Given the description of an element on the screen output the (x, y) to click on. 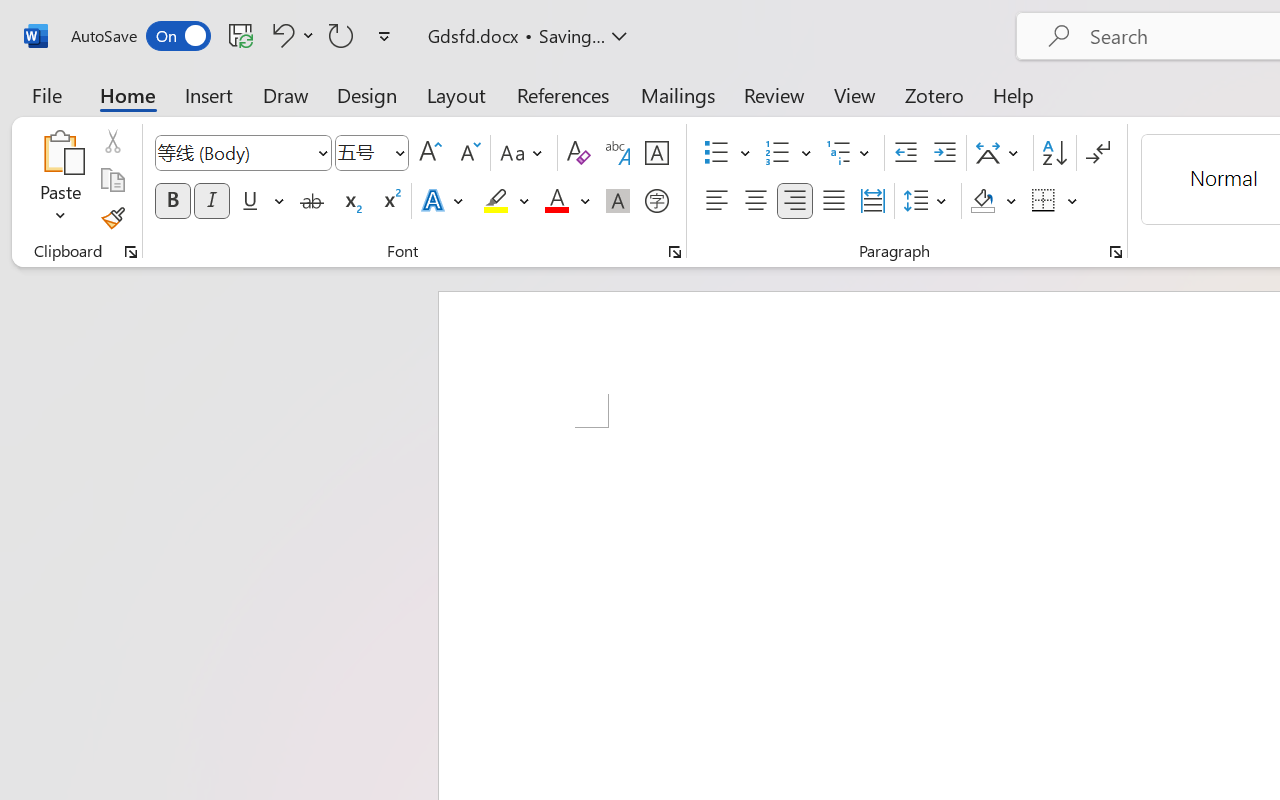
Cut (112, 141)
Office Clipboard... (131, 252)
Strikethrough (312, 201)
Sort... (1054, 153)
Text Effects and Typography (444, 201)
Grow Font (430, 153)
Character Shading (618, 201)
Align Left (716, 201)
Text Highlight Color Yellow (495, 201)
